Given the description of an element on the screen output the (x, y) to click on. 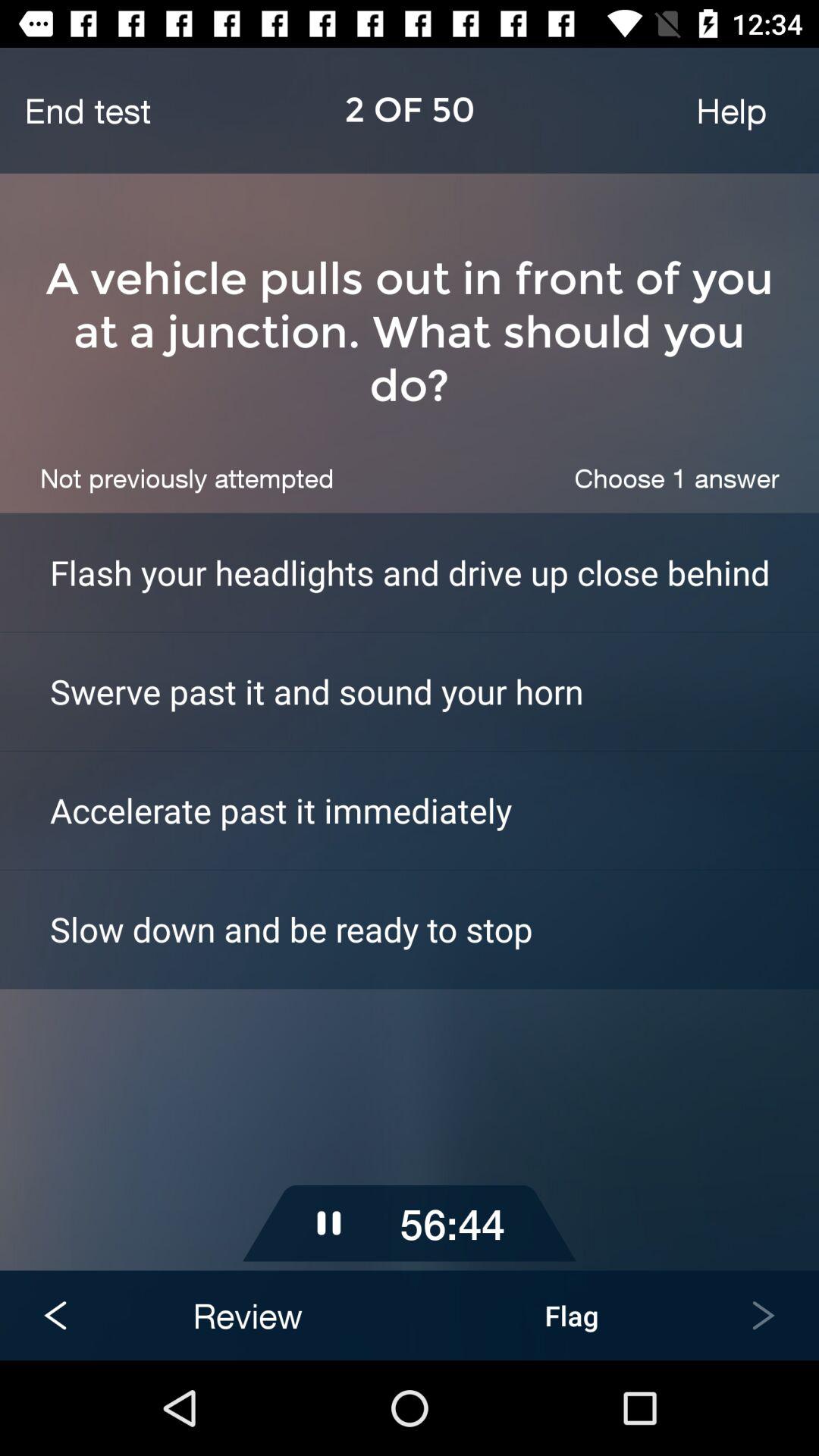
press the icon below the slow down and (409, 1078)
